Given the description of an element on the screen output the (x, y) to click on. 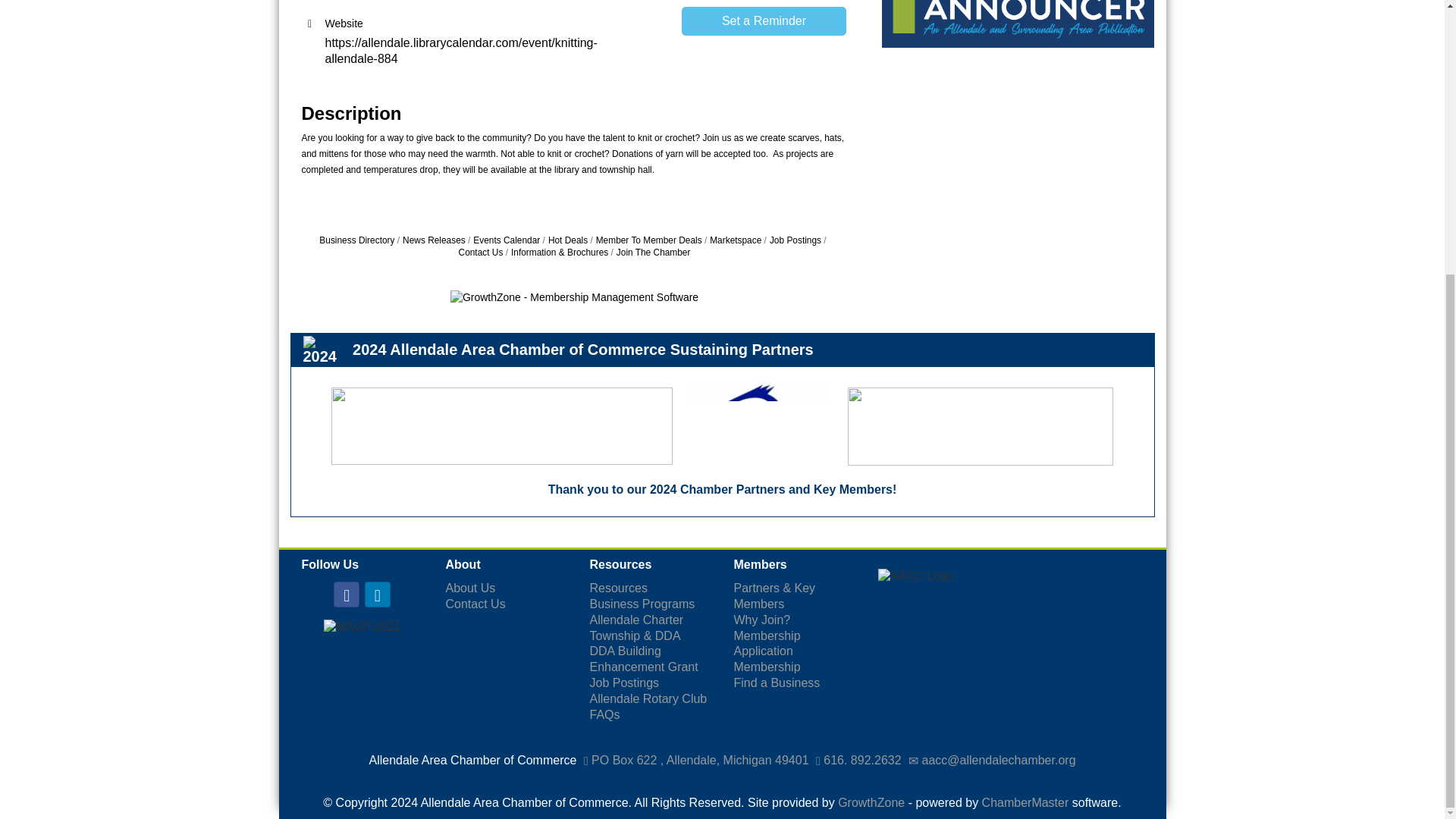
2024 Allendale Area Chamber of Commerce Sustaining Partners (325, 350)
Icon Link (346, 594)
Icon Link (377, 594)
